Given the description of an element on the screen output the (x, y) to click on. 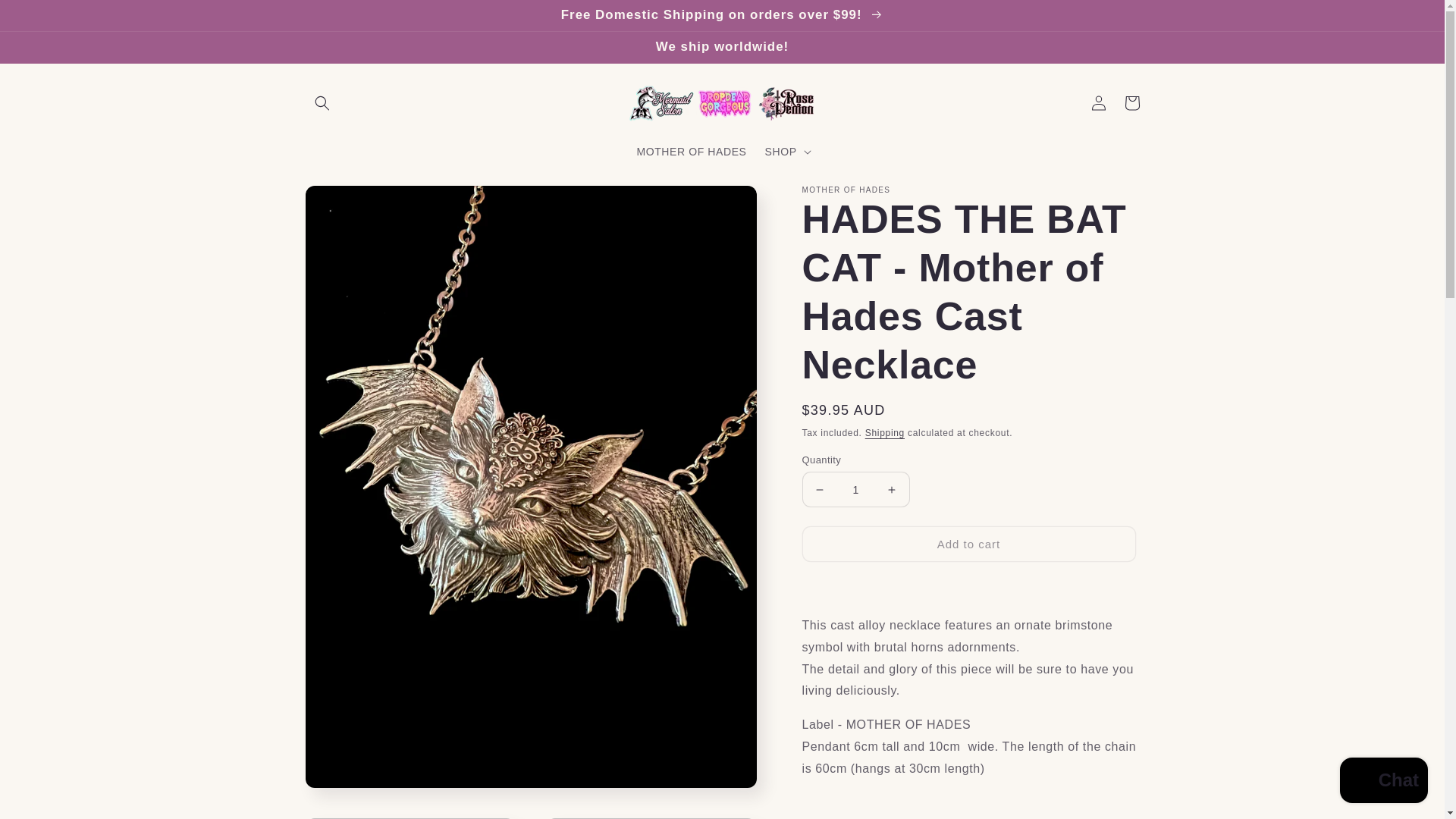
1 (856, 488)
Skip to content (45, 17)
Shopify online store chat (1383, 781)
